Given the description of an element on the screen output the (x, y) to click on. 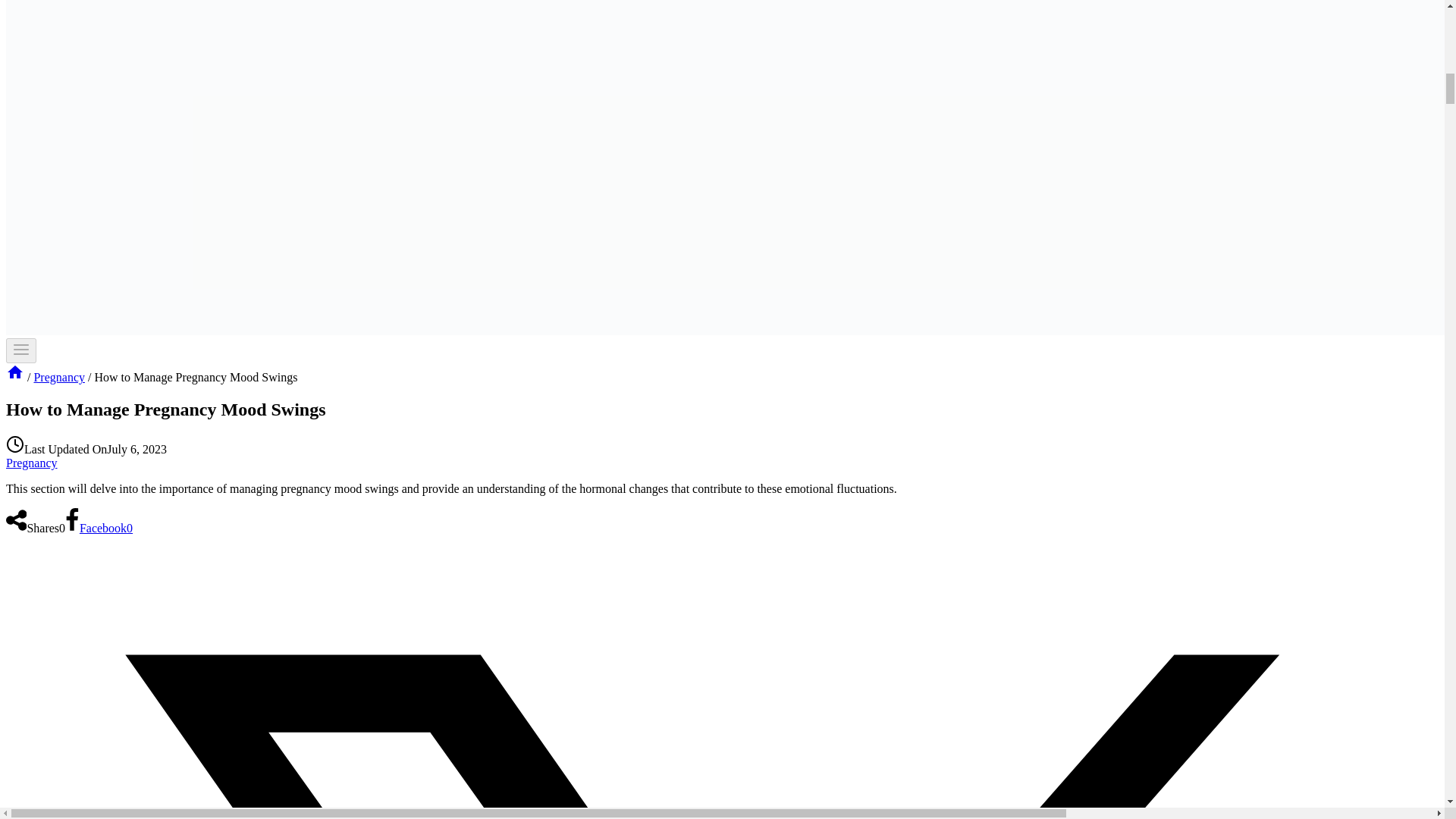
Pregnancy (58, 377)
Pregnancy (31, 462)
Home (14, 377)
Home (14, 377)
Home (14, 372)
Facebook0 (98, 527)
Toggle Menu (20, 350)
Hours (14, 443)
Toggle Menu (20, 349)
Share on Facebook (98, 527)
